Given the description of an element on the screen output the (x, y) to click on. 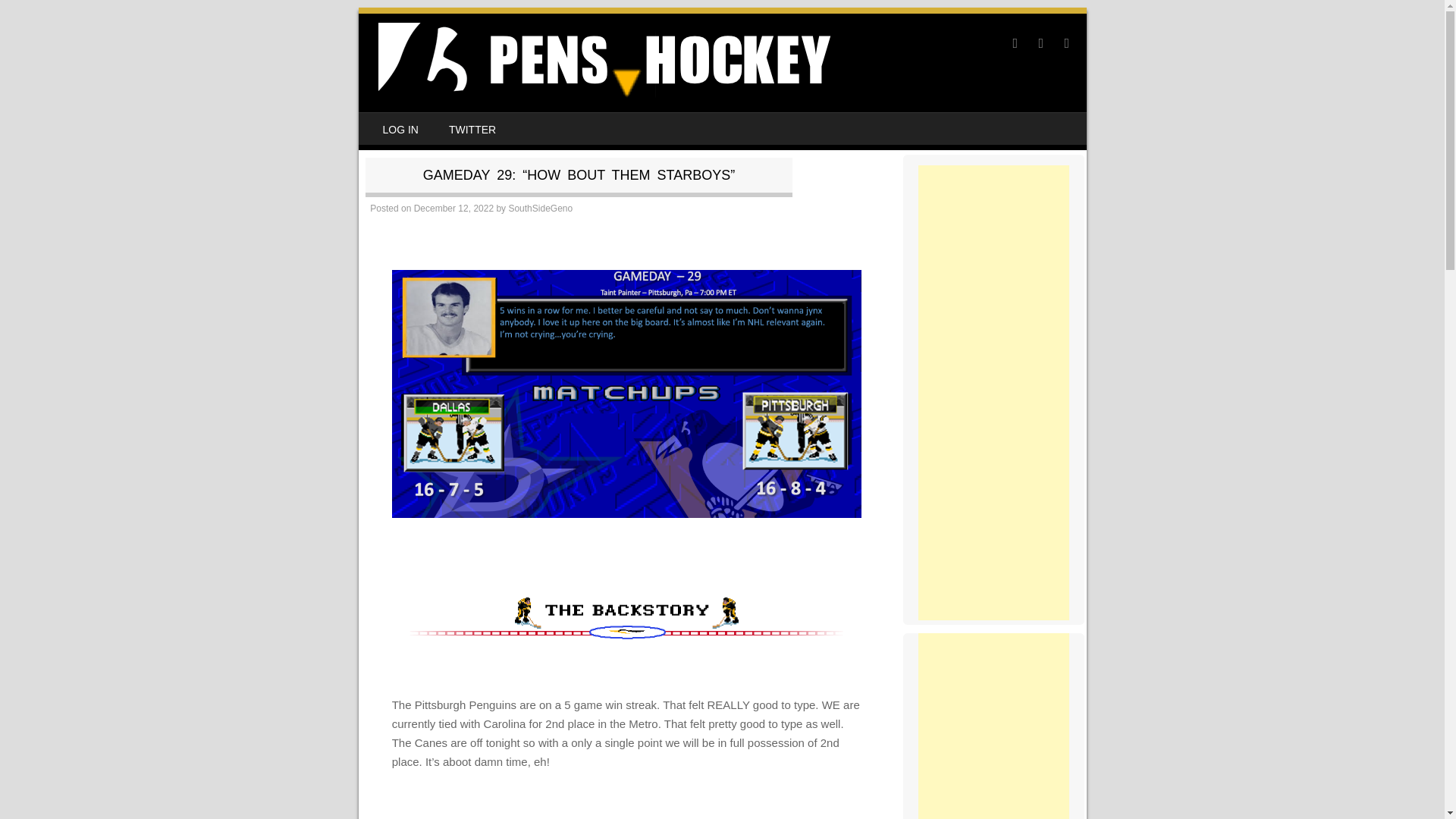
December 12, 2022 (453, 208)
9:00 am (453, 208)
View all posts by SouthSideGeno (540, 208)
SouthSideGeno (540, 208)
SKIP TO CONTENT (405, 122)
LOG IN (399, 128)
Skip to content (405, 122)
TWITTER (472, 128)
